Given the description of an element on the screen output the (x, y) to click on. 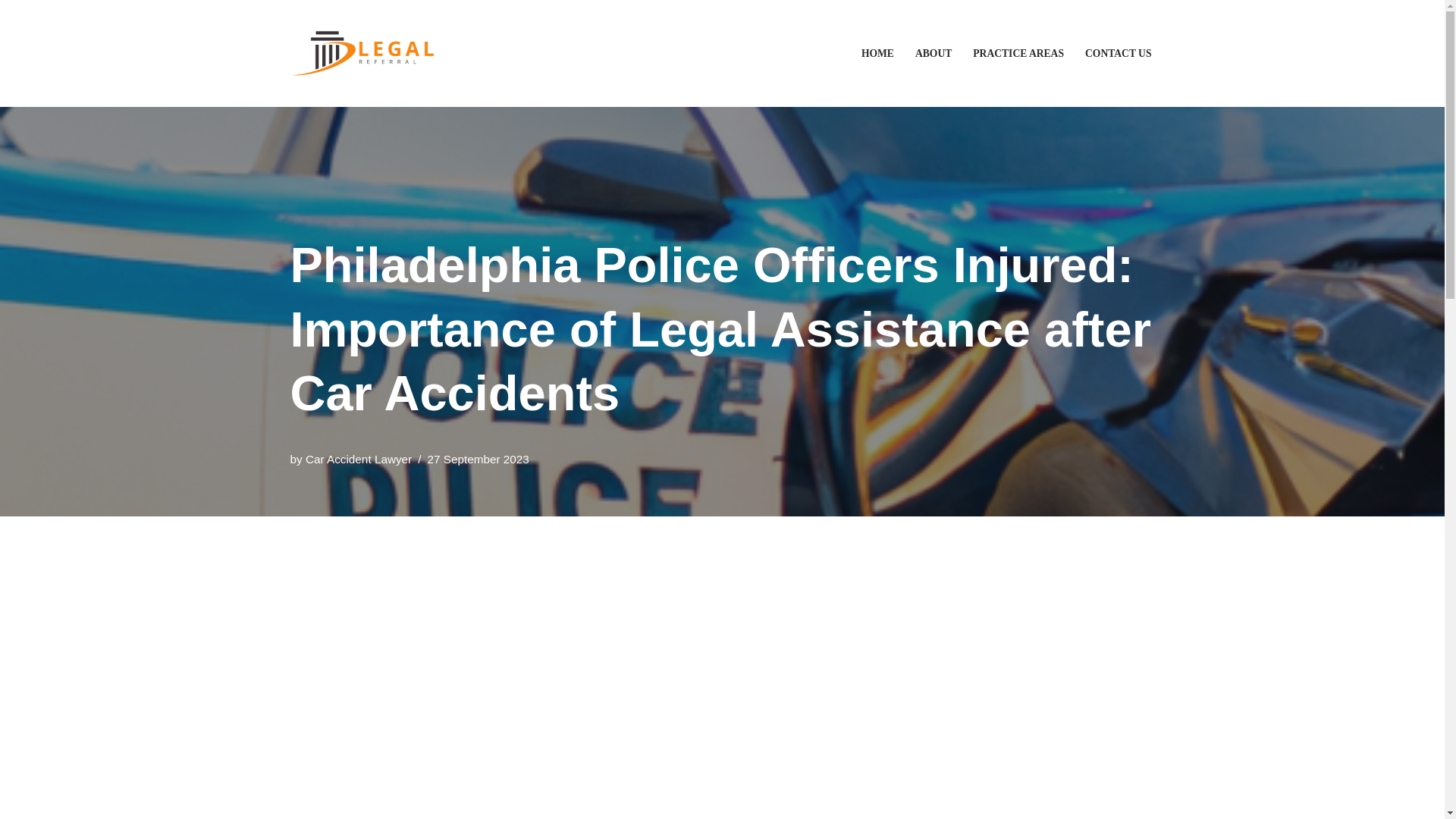
HOME (877, 53)
ABOUT (933, 53)
PRACTICE AREAS (1018, 53)
CONTACT US (1117, 53)
Skip to content (11, 31)
Car Accident Lawyer (358, 459)
Posts by Car Accident Lawyer (358, 459)
